Given the description of an element on the screen output the (x, y) to click on. 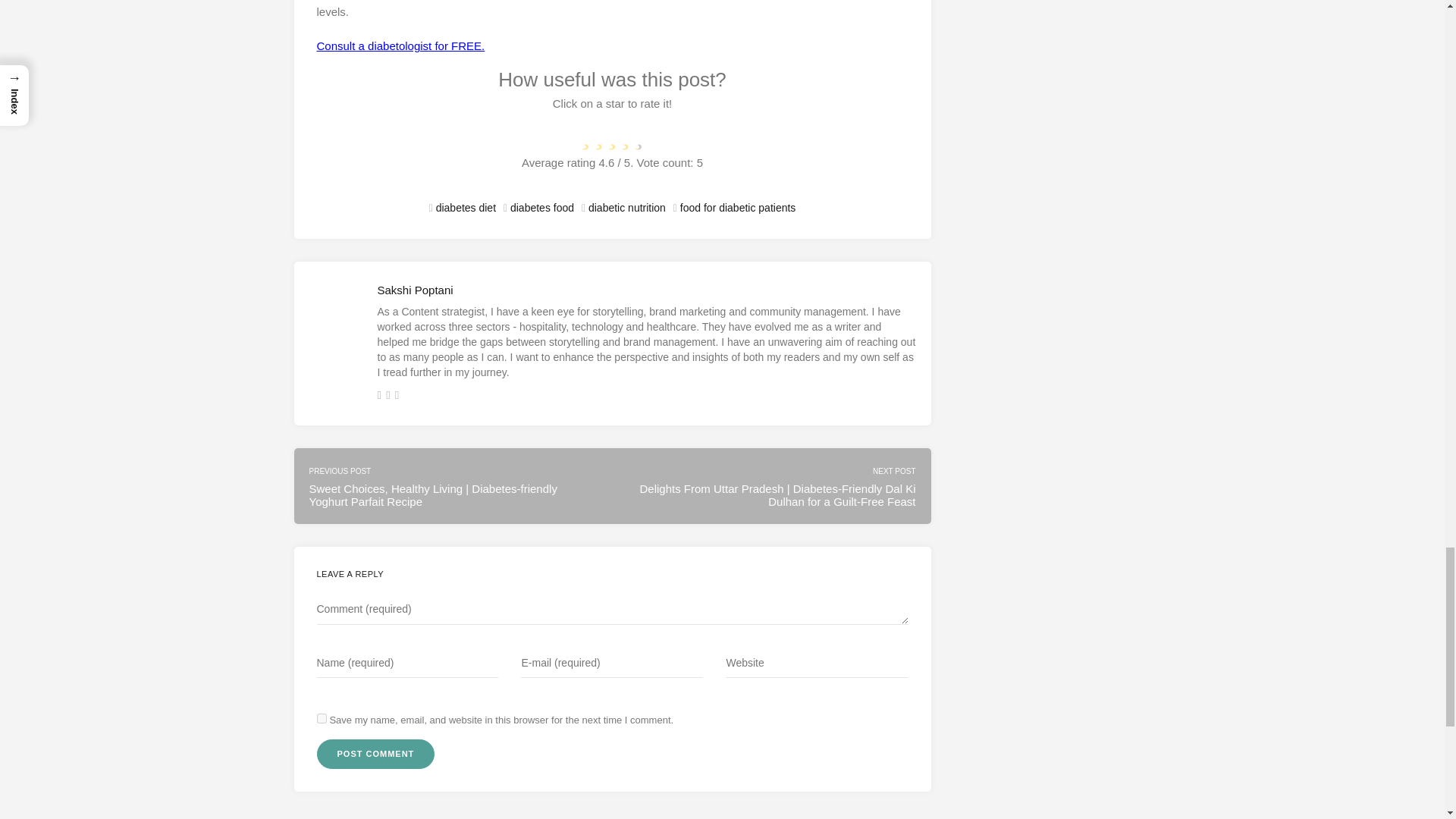
Post Comment (376, 754)
yes (321, 718)
